Given the description of an element on the screen output the (x, y) to click on. 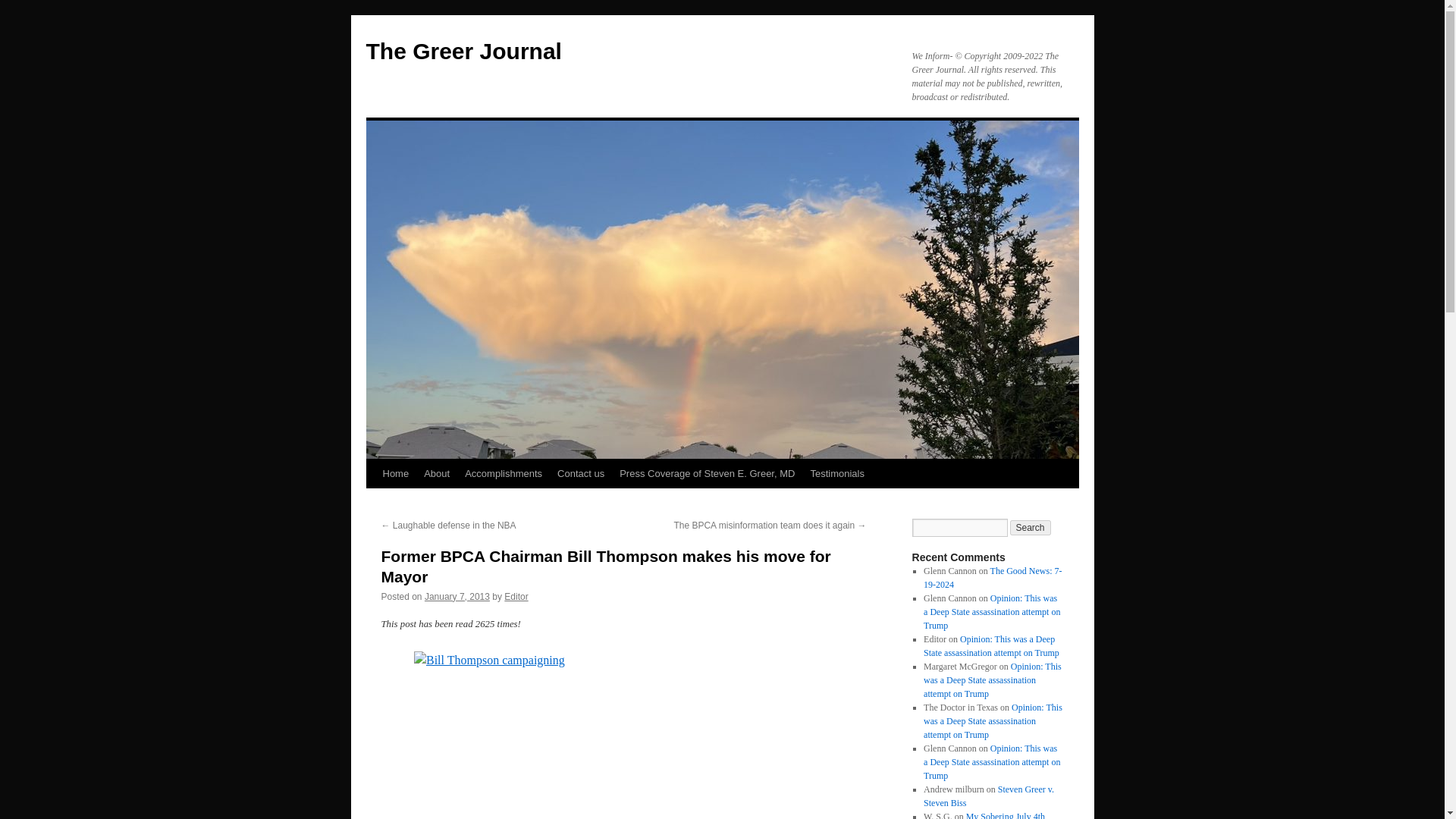
View all posts by Editor (515, 596)
The Greer Journal (462, 50)
10:06 am (457, 596)
Testimonials (837, 473)
Accomplishments (503, 473)
Home (395, 473)
Search (1030, 527)
My Sobering July 4th Message (984, 815)
The Good News: 7-19-2024 (992, 577)
Contact us (580, 473)
